Given the description of an element on the screen output the (x, y) to click on. 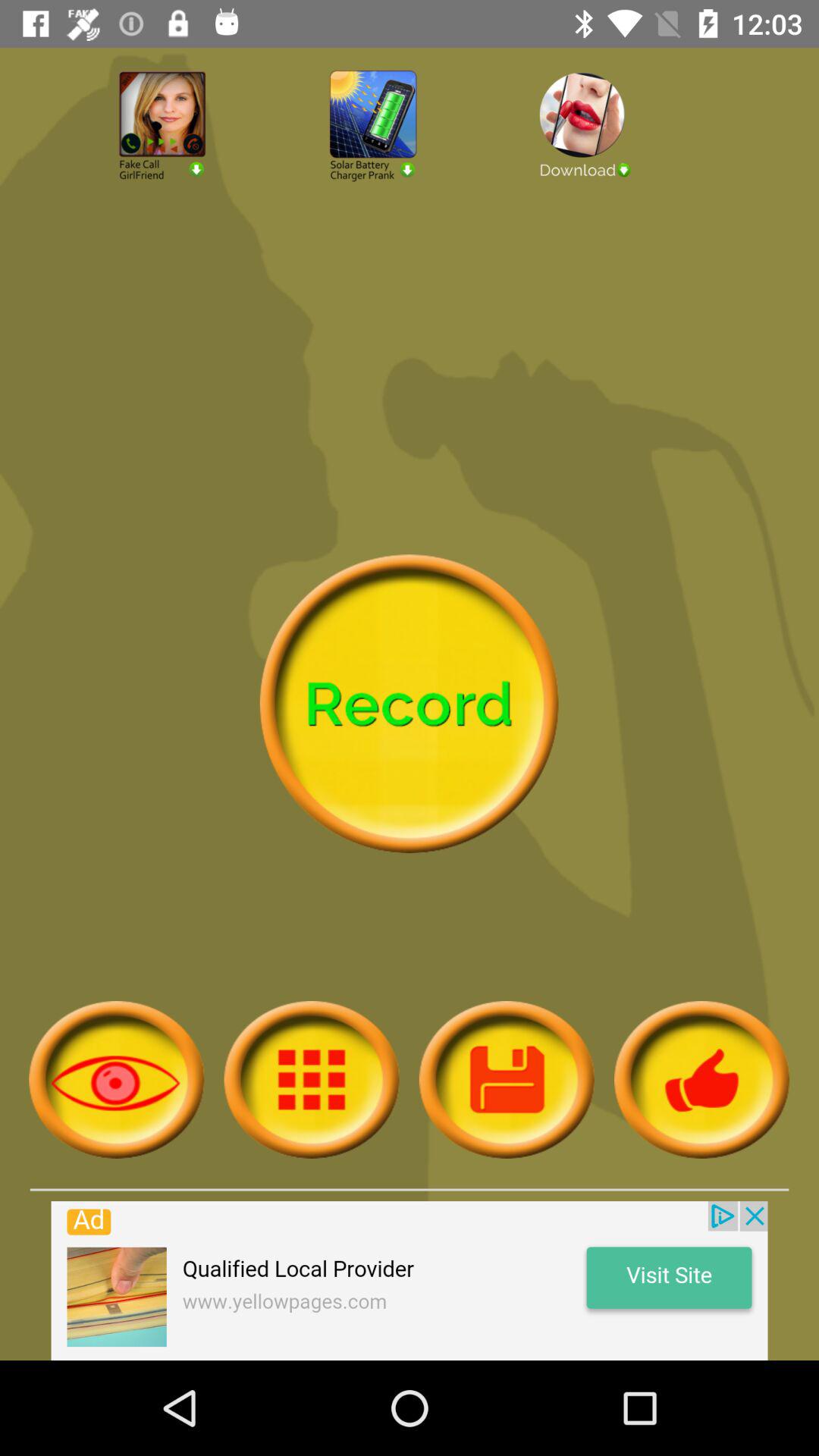
record (408, 703)
